Given the description of an element on the screen output the (x, y) to click on. 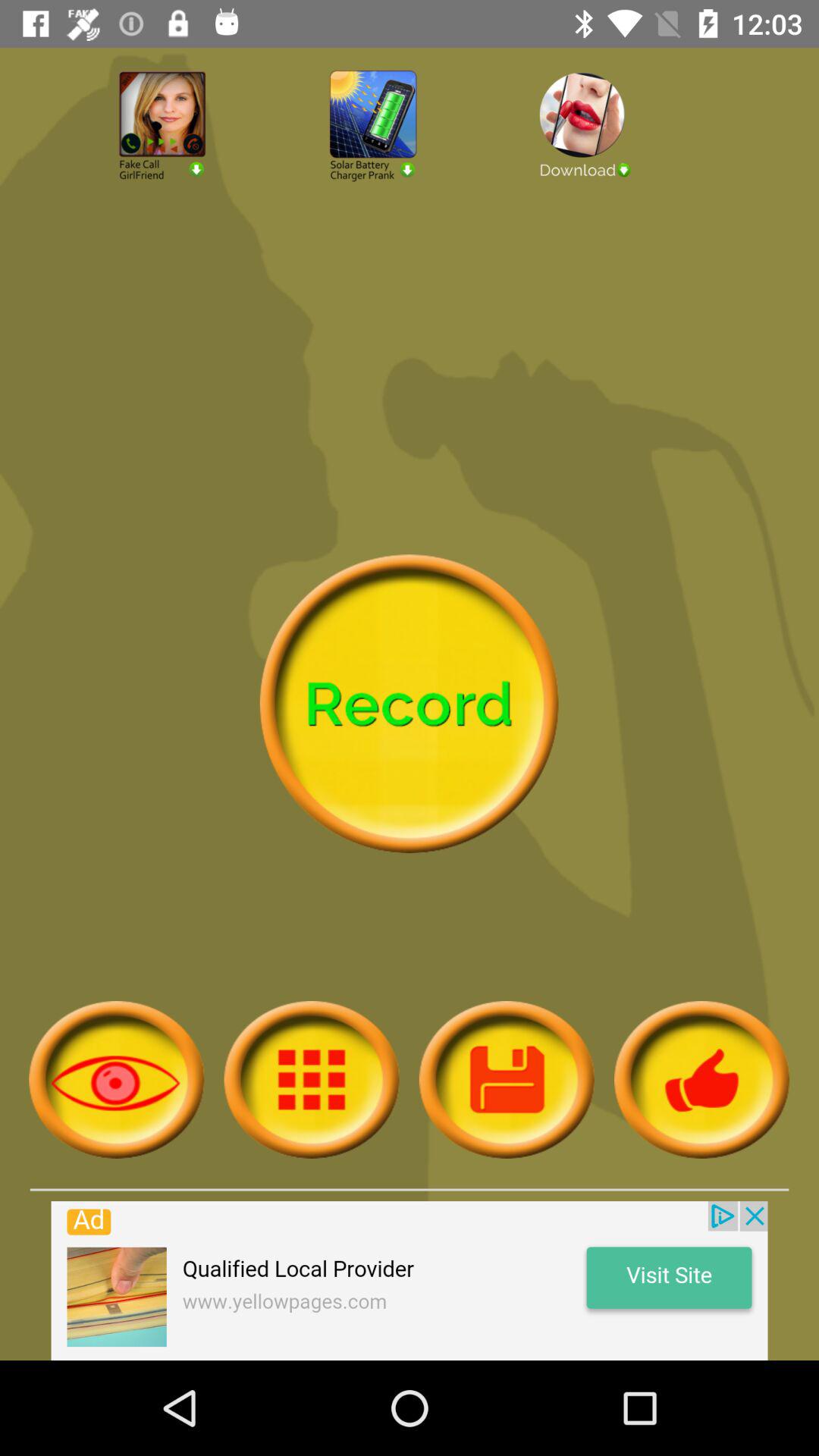
record (408, 703)
